Given the description of an element on the screen output the (x, y) to click on. 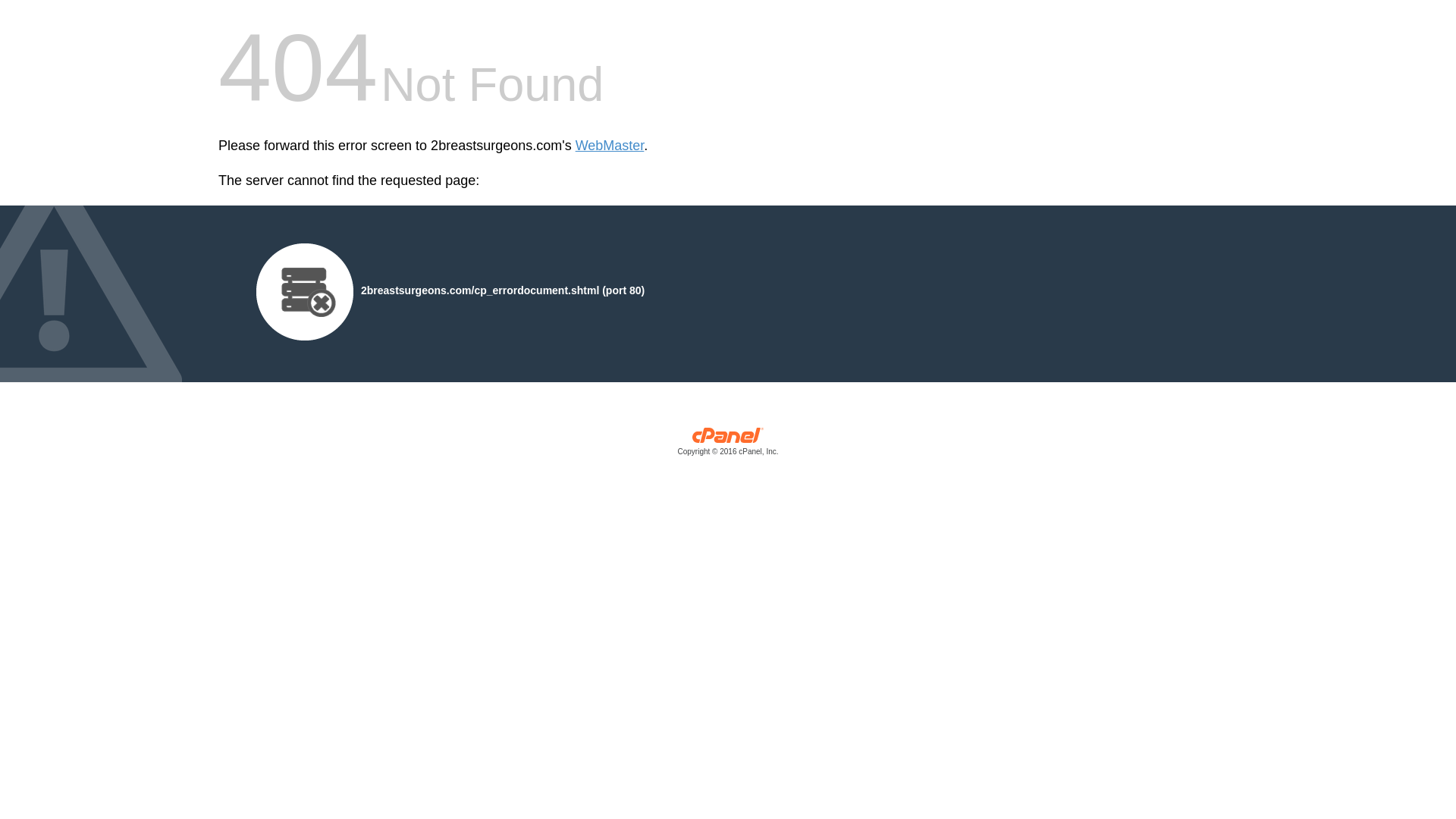
WebMaster Element type: text (609, 145)
